Given the description of an element on the screen output the (x, y) to click on. 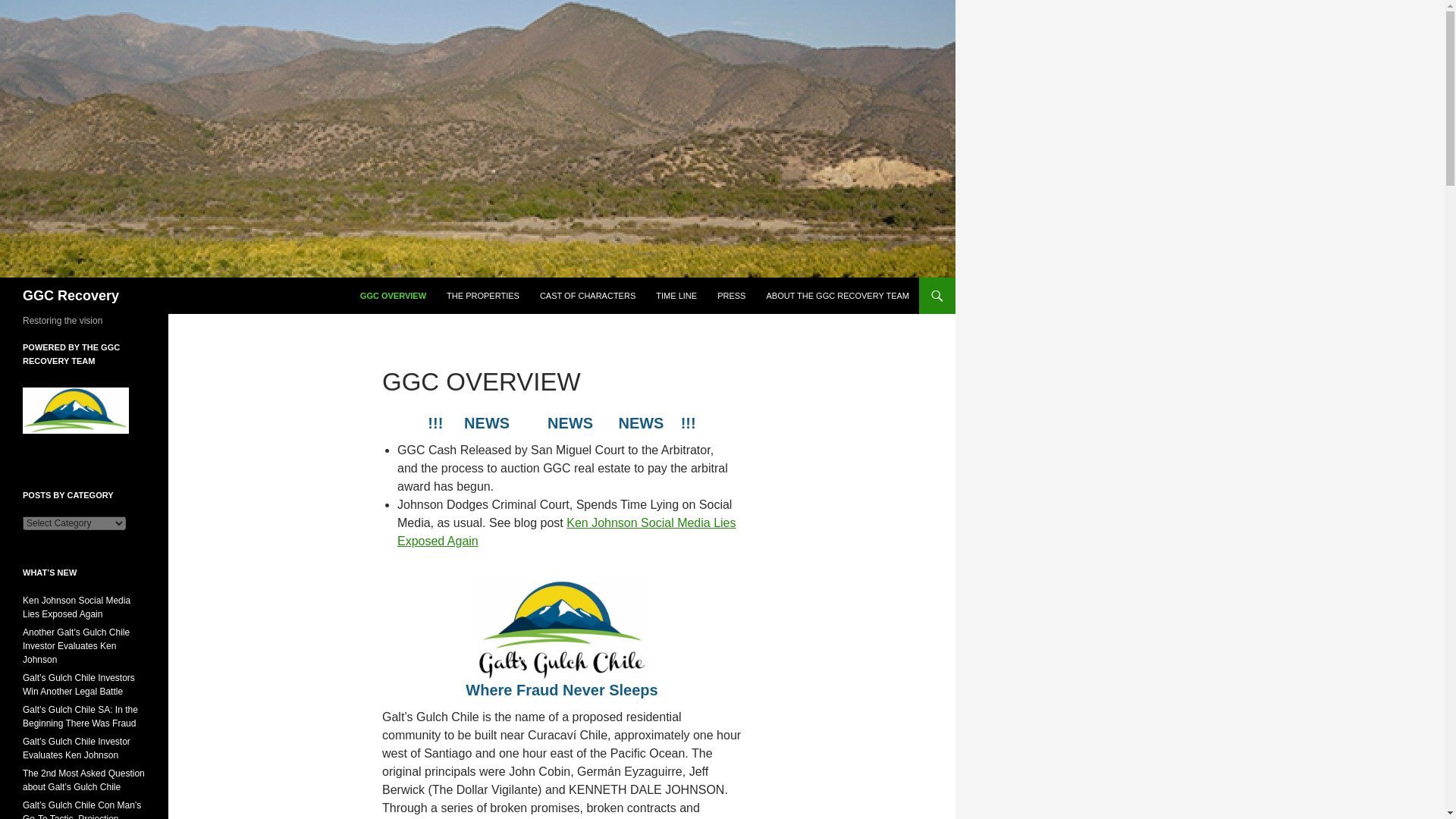
THE PROPERTIES (483, 295)
Ken Johnson Social Media Lies Exposed Again (77, 607)
Ken Johnson Social Media Lies Exposed Again (566, 531)
GGC OVERVIEW (392, 295)
CAST OF CHARACTERS (588, 295)
TIME LINE (676, 295)
PRESS (730, 295)
GGC Recovery (71, 295)
